Given the description of an element on the screen output the (x, y) to click on. 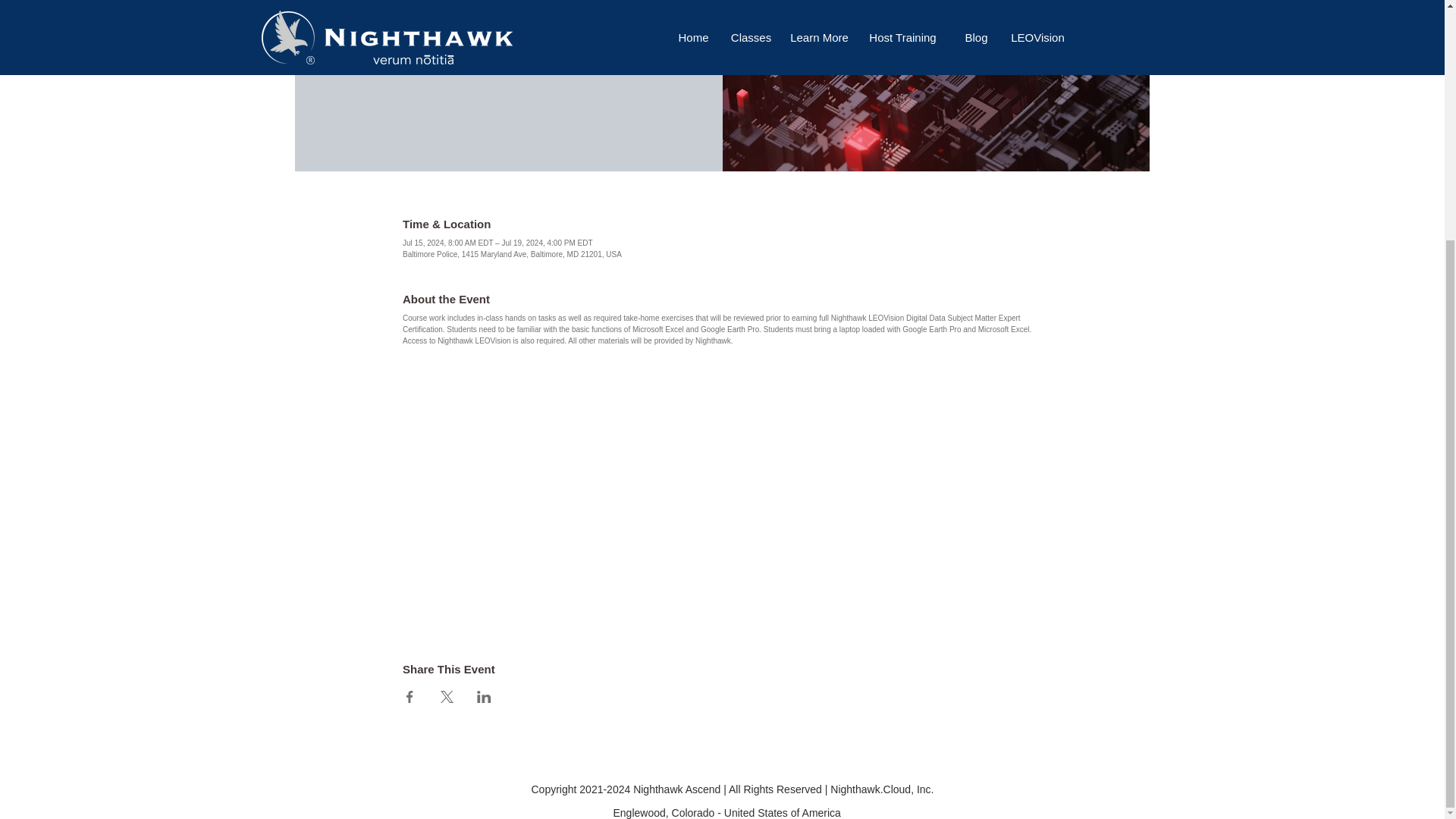
See other events (508, 17)
